Given the description of an element on the screen output the (x, y) to click on. 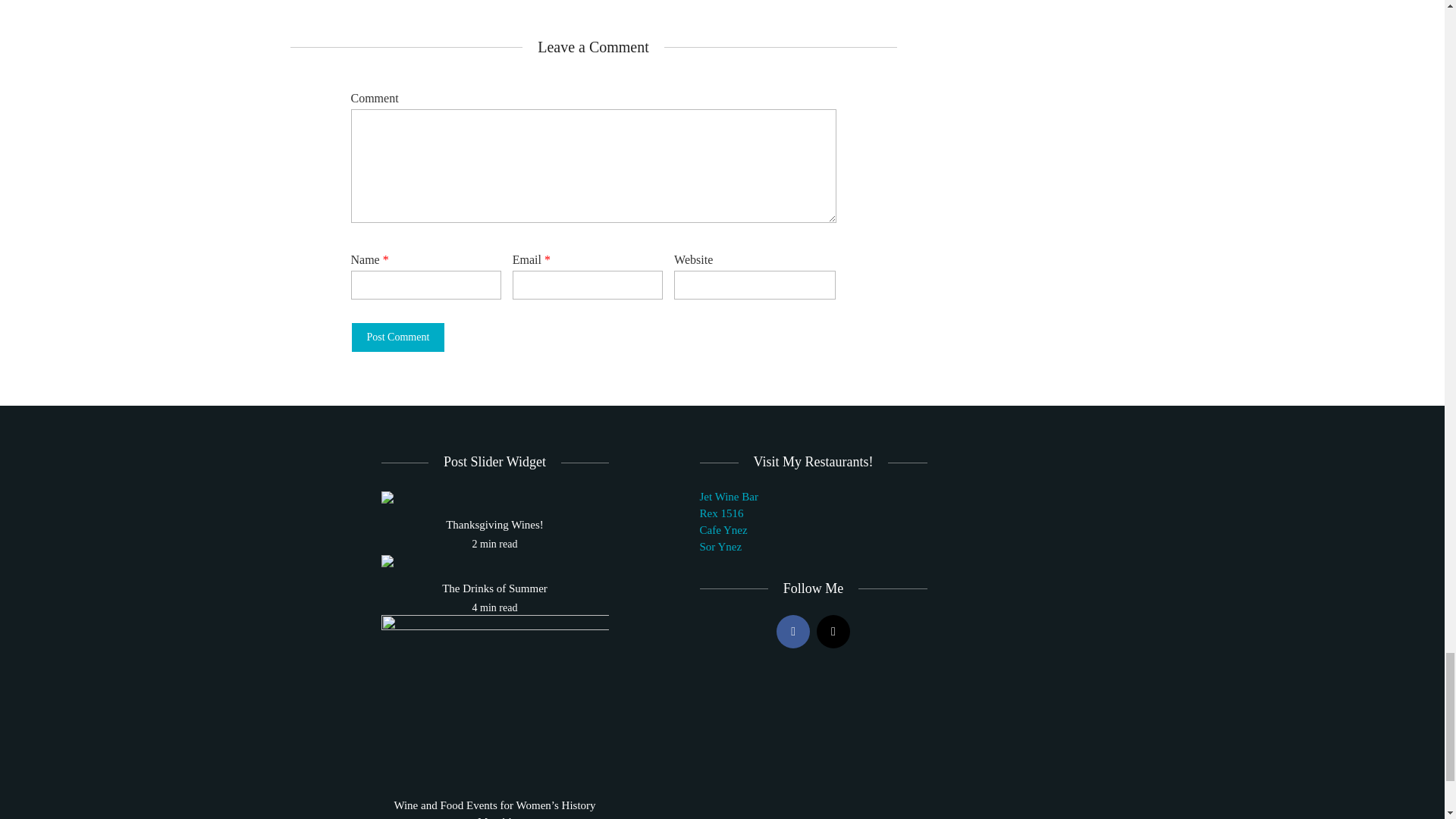
The Drinks of Summer (494, 588)
Thanksgiving Wines! (494, 524)
Thanksgiving Wines! (386, 496)
Post Comment (397, 337)
Facebook (792, 631)
Instagram (833, 631)
The Drinks of Summer (386, 560)
